Given the description of an element on the screen output the (x, y) to click on. 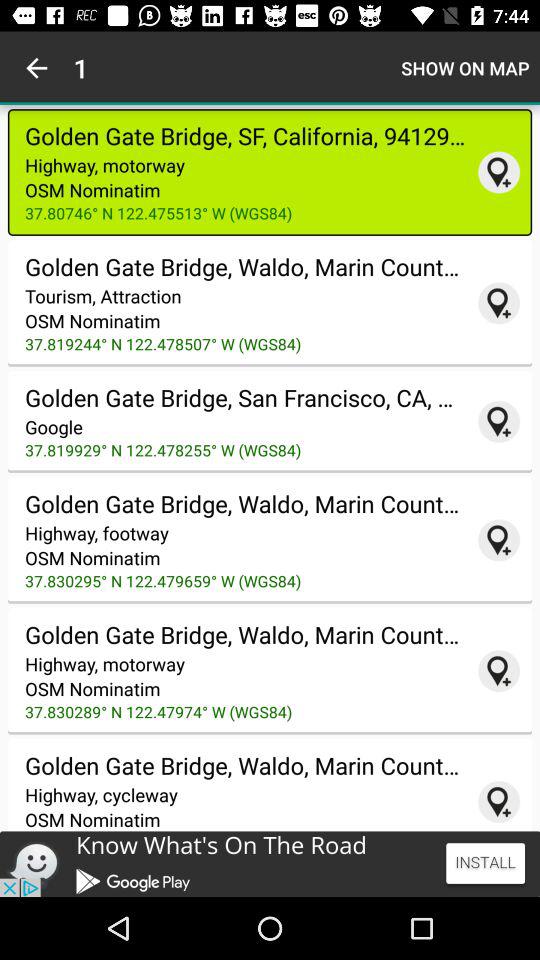
get location address in map (499, 802)
